Given the description of an element on the screen output the (x, y) to click on. 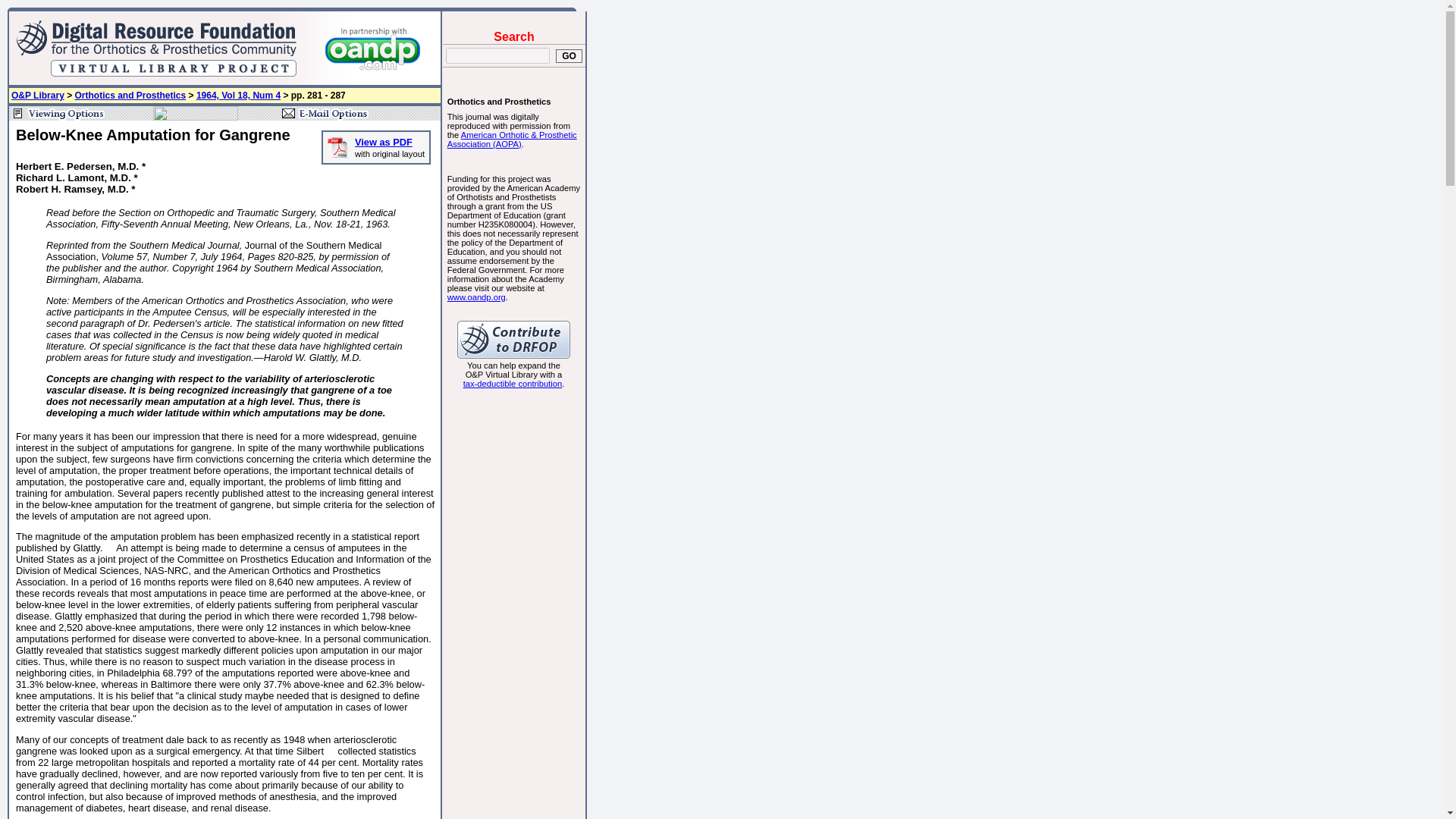
www.oandp.org (475, 297)
tax-deductible contribution (512, 383)
View as PDF (383, 142)
Orthotics and Prosthetics (130, 95)
GO (569, 56)
GO (569, 56)
1964, Vol 18, Num 4 (238, 95)
